Given the description of an element on the screen output the (x, y) to click on. 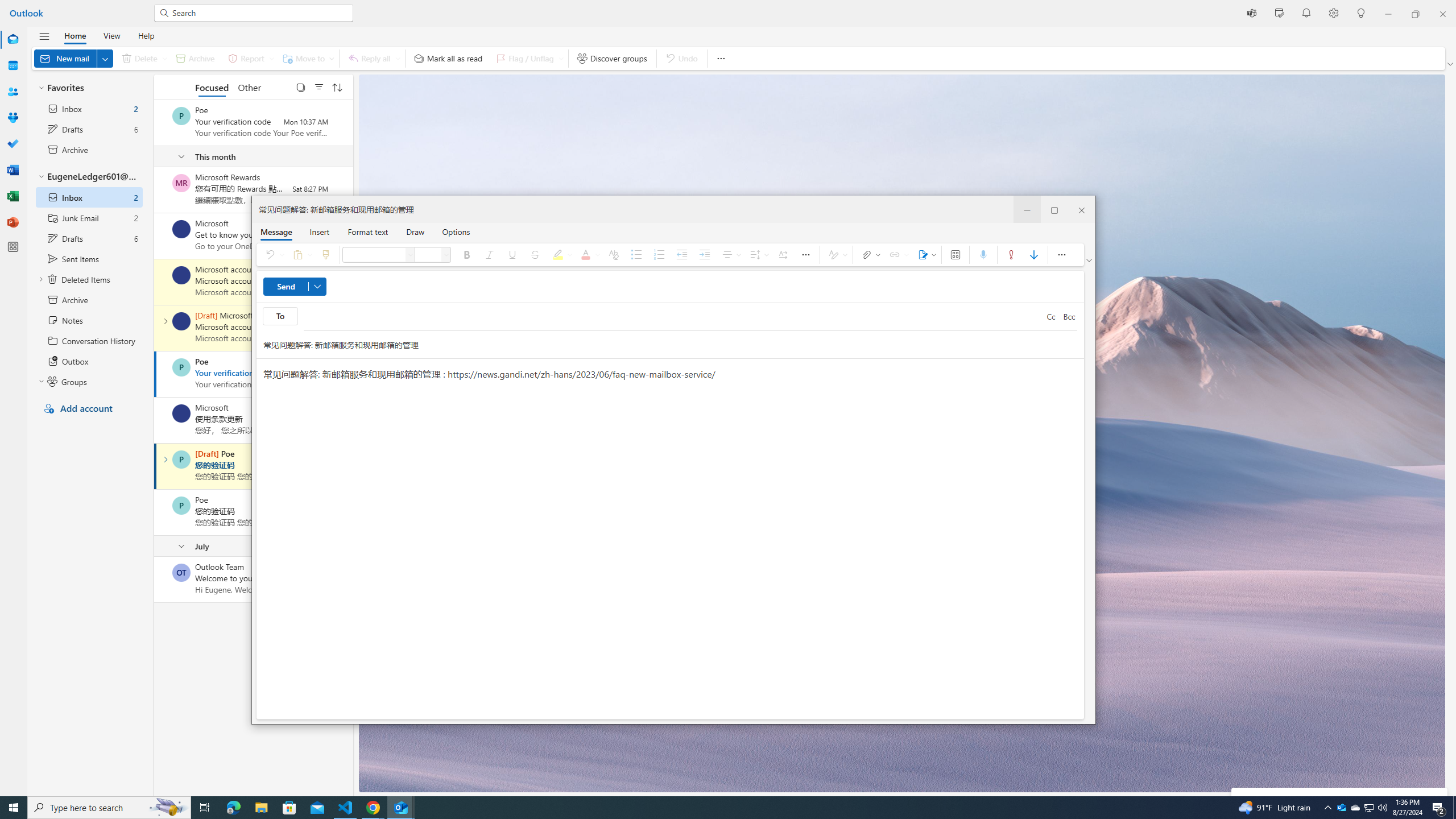
Expand conversation (164, 459)
Expand to see delete options (164, 58)
Q2790: 100% (1382, 807)
Attach file (869, 254)
Reply all (1368, 807)
Help (372, 58)
Outlook Team (146, 35)
Expand to see more respond options (180, 572)
Dictate (398, 58)
Google Chrome - 3 running windows (983, 254)
Microsoft (373, 807)
Italic (180, 413)
Other (489, 254)
